Given the description of an element on the screen output the (x, y) to click on. 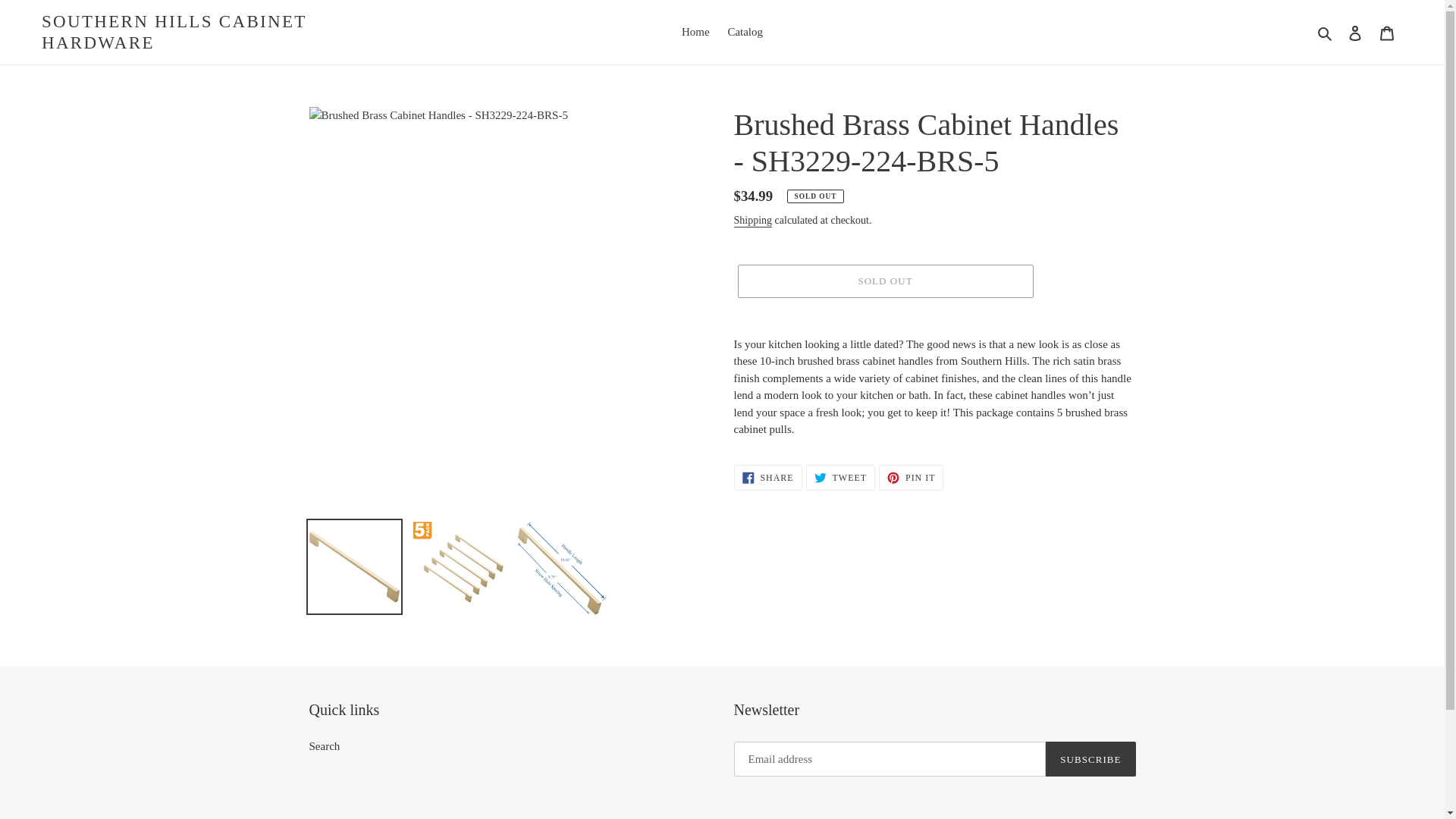
SOUTHERN HILLS CABINET HARDWARE (211, 32)
SOLD OUT (884, 281)
Search (324, 746)
Log in (1355, 31)
Catalog (767, 477)
Home (744, 32)
Cart (911, 477)
Shipping (695, 32)
SUBSCRIBE (1387, 31)
Search (753, 220)
